Given the description of an element on the screen output the (x, y) to click on. 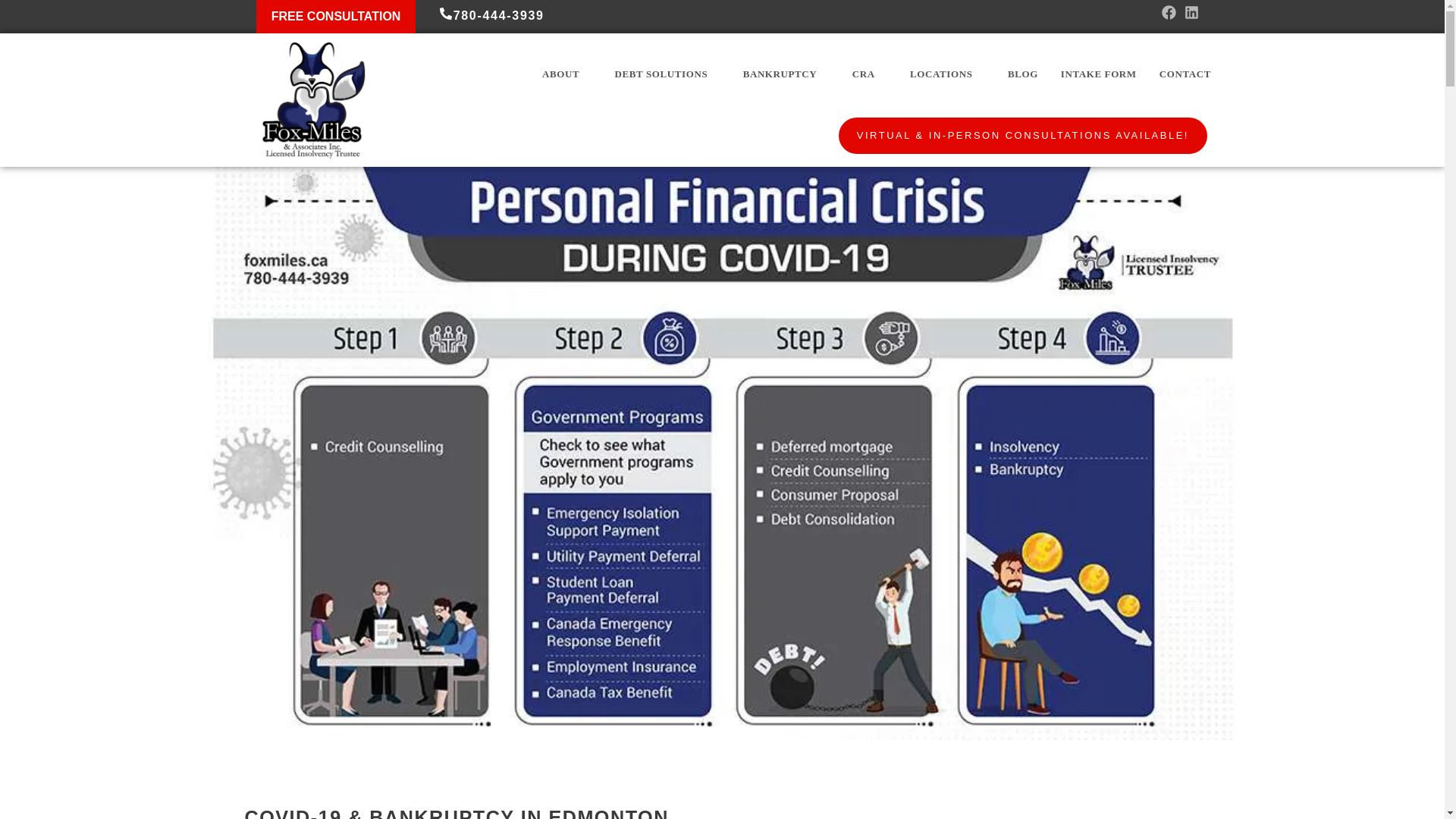
BLOG (1022, 73)
DEBT SOLUTIONS (668, 73)
LOCATIONS (946, 73)
CRA (869, 73)
780-444-3939 (491, 15)
CONTACT (1185, 73)
ABOUT (567, 73)
INTAKE FORM (1098, 73)
FREE CONSULTATION (336, 16)
BANKRUPTCY (786, 73)
